Given the description of an element on the screen output the (x, y) to click on. 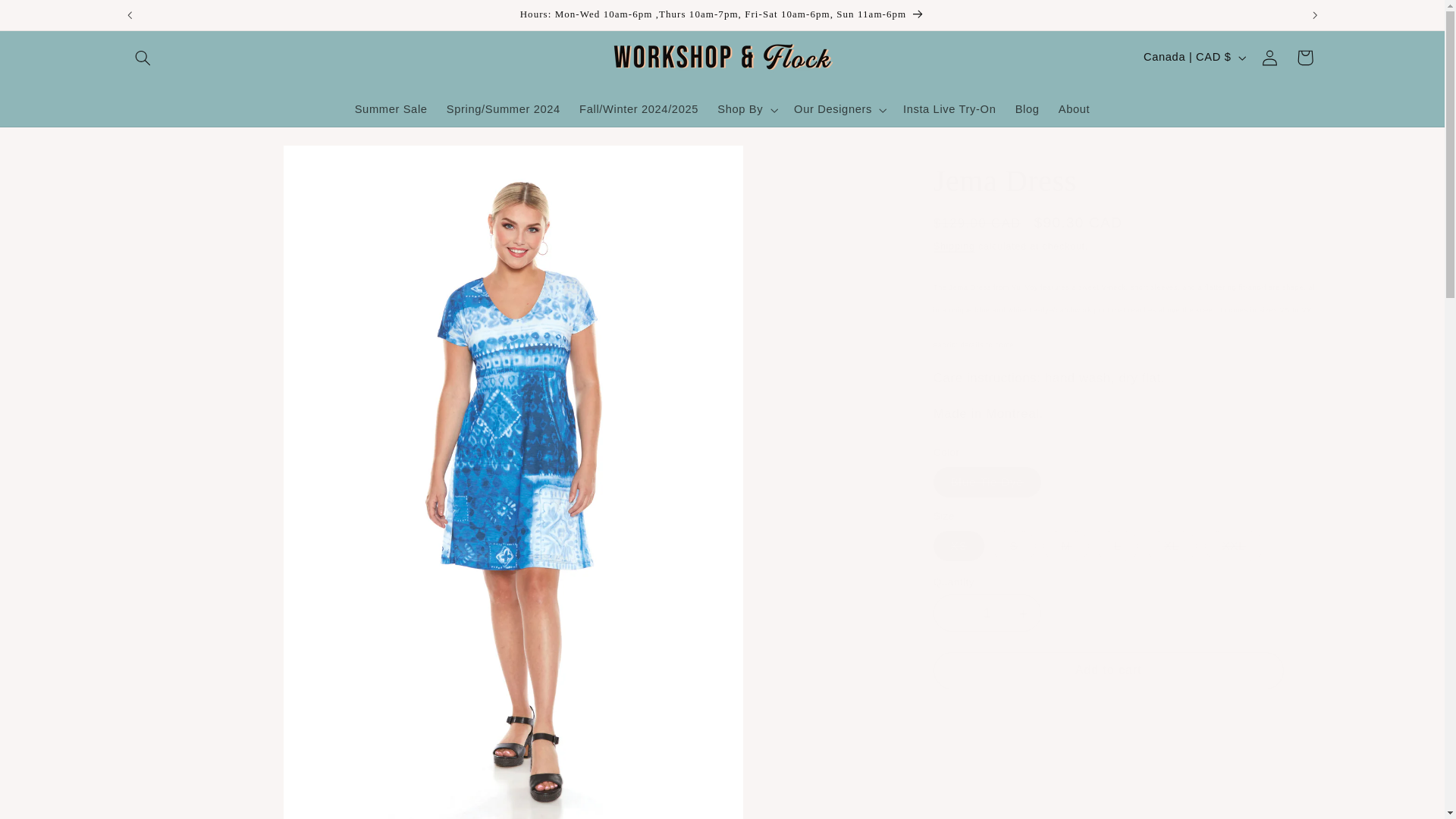
Skip to content (48, 18)
1 (987, 612)
